Given the description of an element on the screen output the (x, y) to click on. 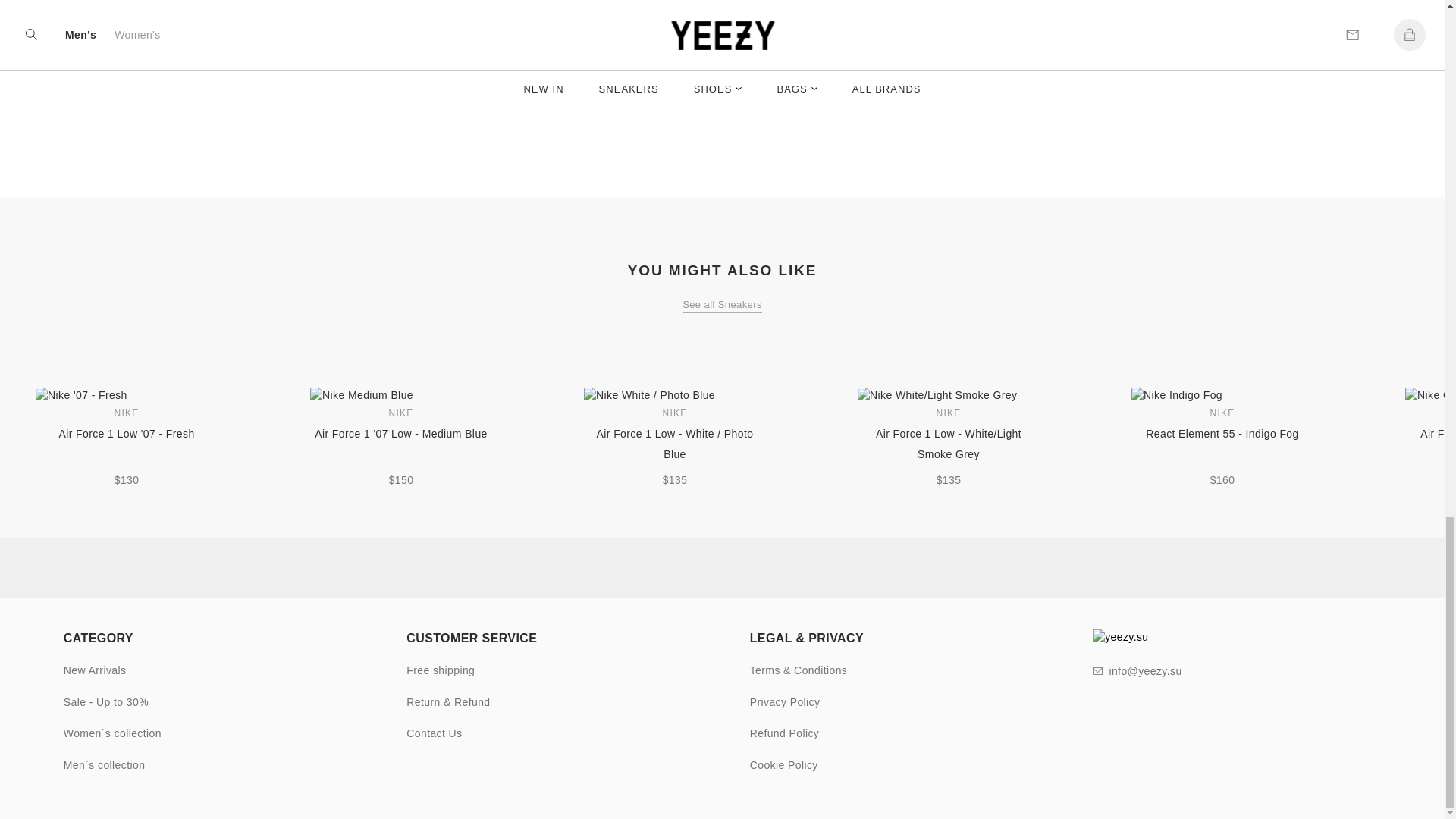
'07 - Fresh (126, 395)
Air Force 1 '07 Low - Medium Blue (400, 445)
Medium Blue (400, 395)
Air Force 1 Low '07 - Fresh (126, 445)
